Given the description of an element on the screen output the (x, y) to click on. 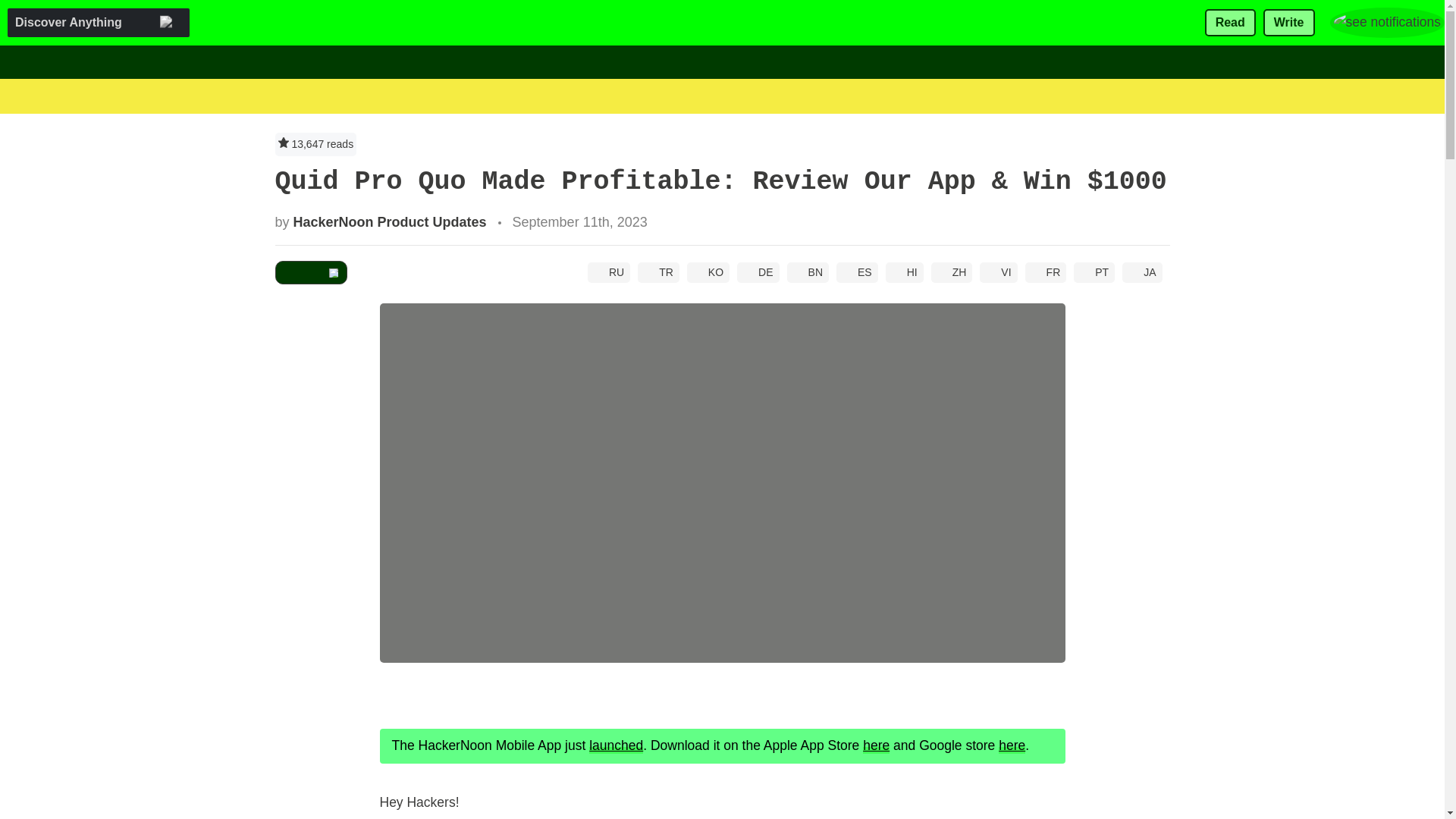
ES (856, 272)
here (876, 744)
Read (1230, 22)
ZH (951, 272)
FR (1046, 272)
BN (807, 272)
VI (997, 272)
DE (757, 272)
launched (616, 744)
here (1011, 744)
PT (1094, 272)
HackerNoon Product Updates (390, 222)
Write (1288, 22)
HI (904, 272)
RU (609, 272)
